Given the description of an element on the screen output the (x, y) to click on. 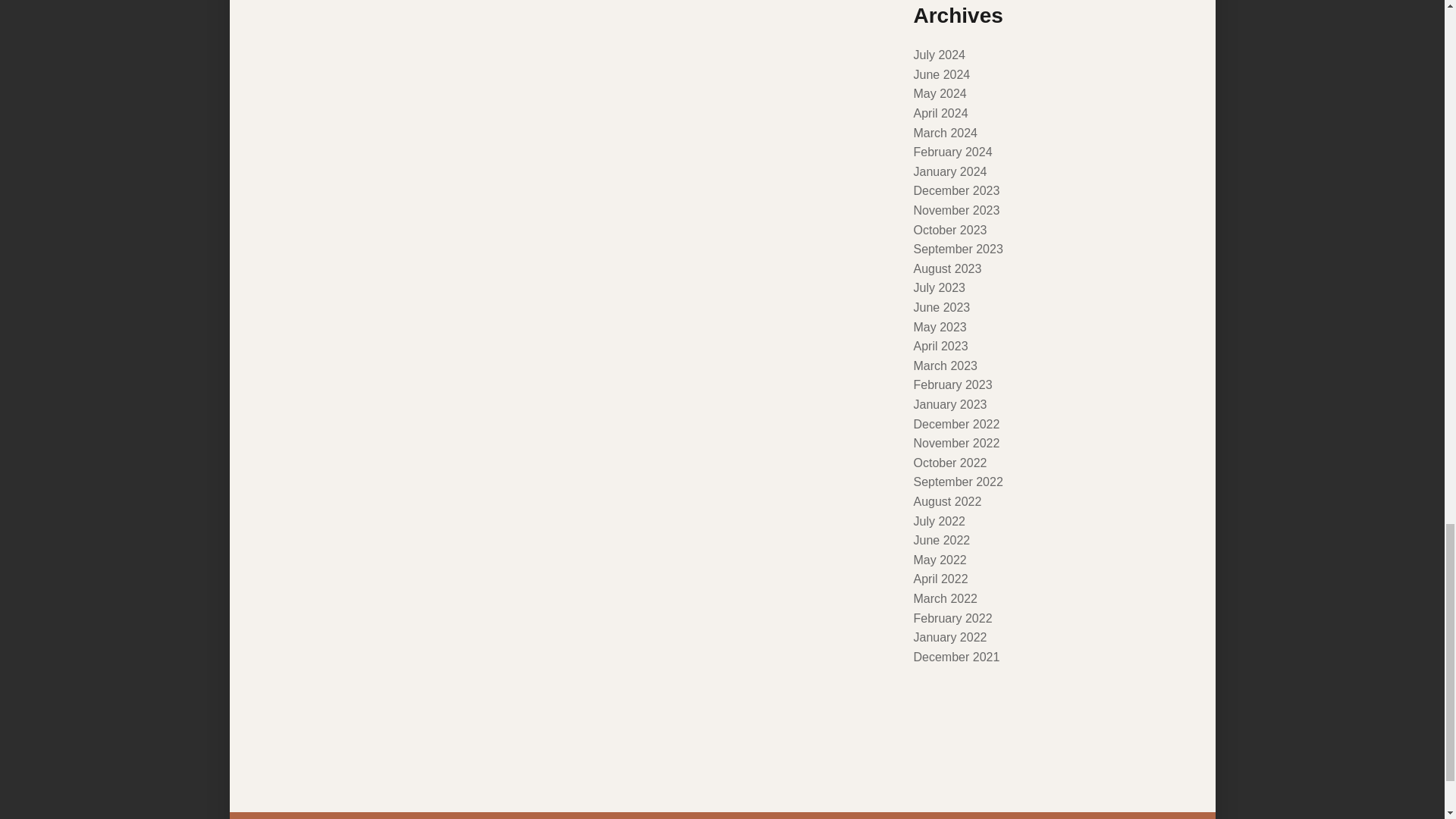
April 2024 (940, 113)
December 2023 (955, 190)
November 2023 (955, 210)
March 2024 (944, 132)
January 2024 (949, 171)
October 2023 (949, 229)
May 2024 (939, 92)
June 2024 (940, 74)
July 2024 (938, 54)
February 2024 (951, 151)
September 2023 (957, 248)
